Given the description of an element on the screen output the (x, y) to click on. 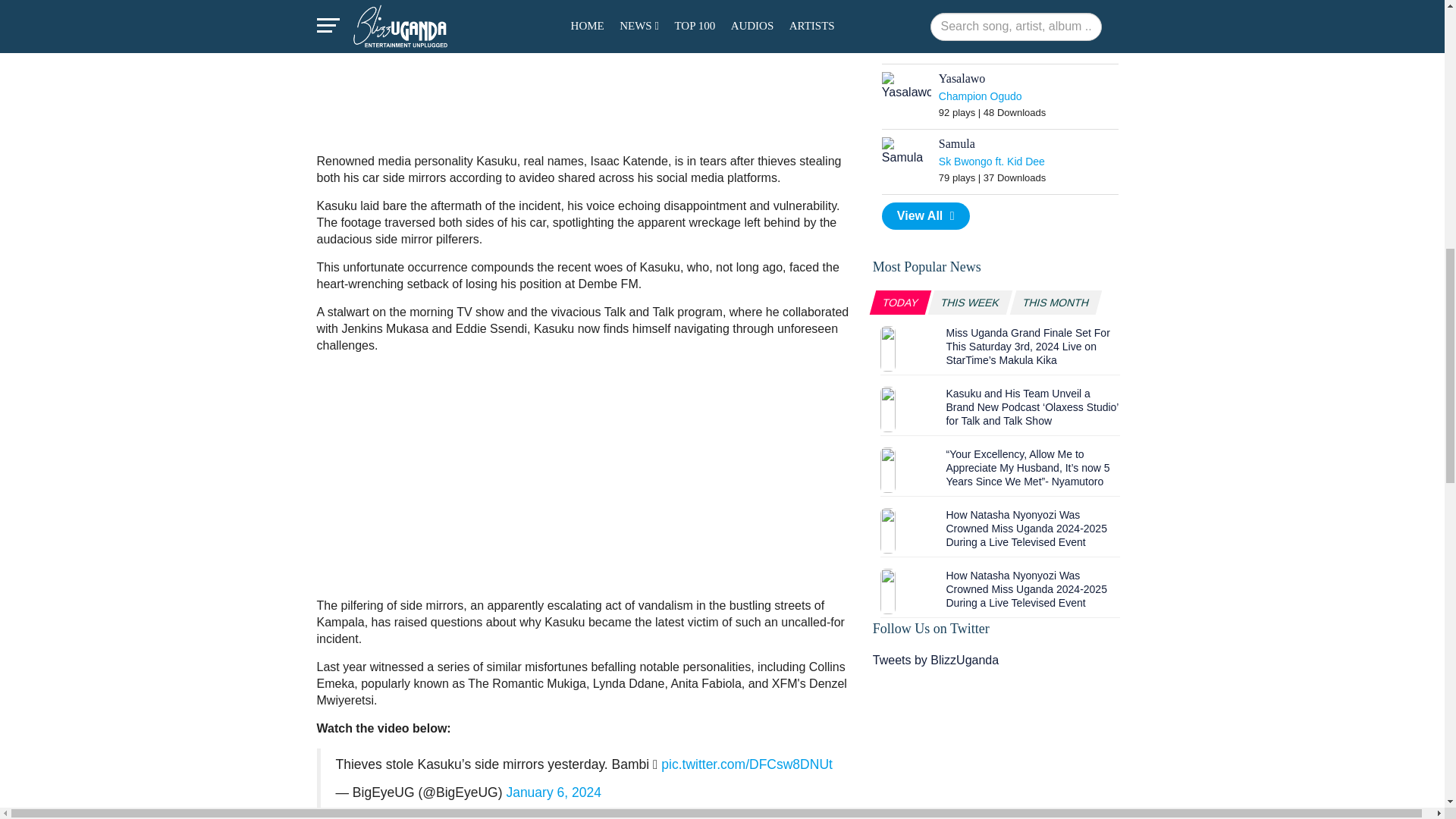
Yasalawo (906, 86)
Focus (906, 15)
Samula (906, 151)
